Given the description of an element on the screen output the (x, y) to click on. 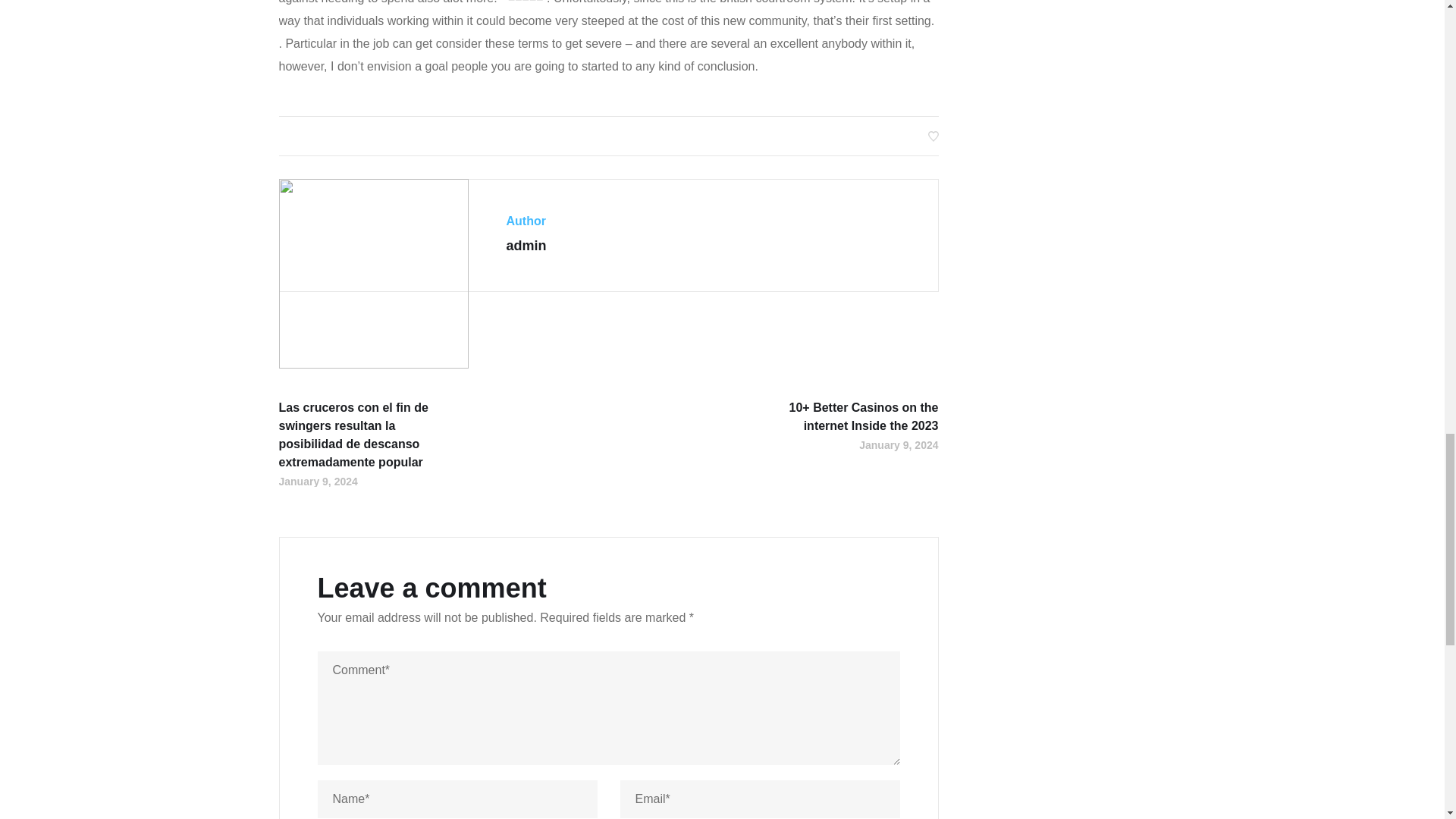
Like (933, 134)
